Given the description of an element on the screen output the (x, y) to click on. 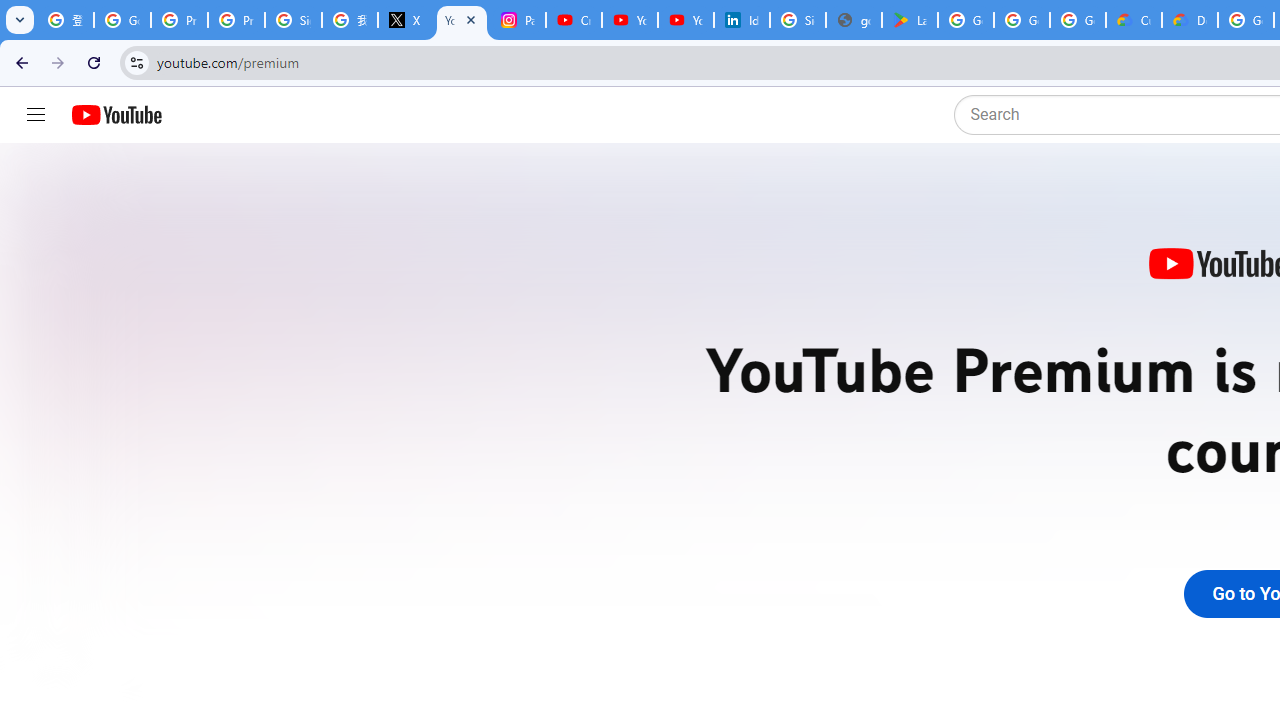
X (405, 20)
YouTube Premium - YouTube (461, 20)
Guide (35, 115)
Privacy Help Center - Policies Help (179, 20)
YouTube Home (116, 115)
